Given the description of an element on the screen output the (x, y) to click on. 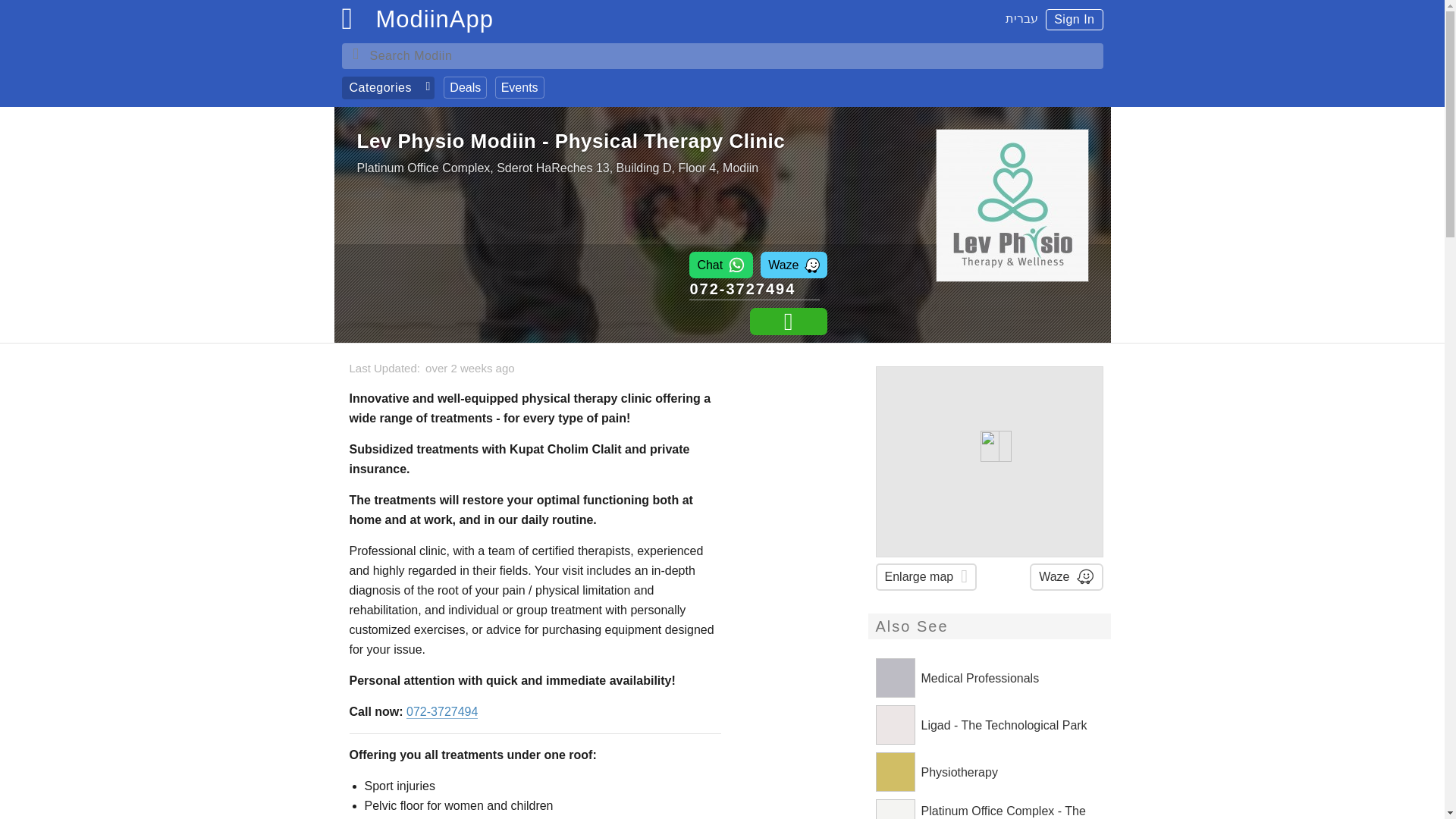
Deals (465, 87)
ModiinApp (434, 22)
Categories (386, 87)
Events (519, 87)
Sign In (1073, 19)
